Given the description of an element on the screen output the (x, y) to click on. 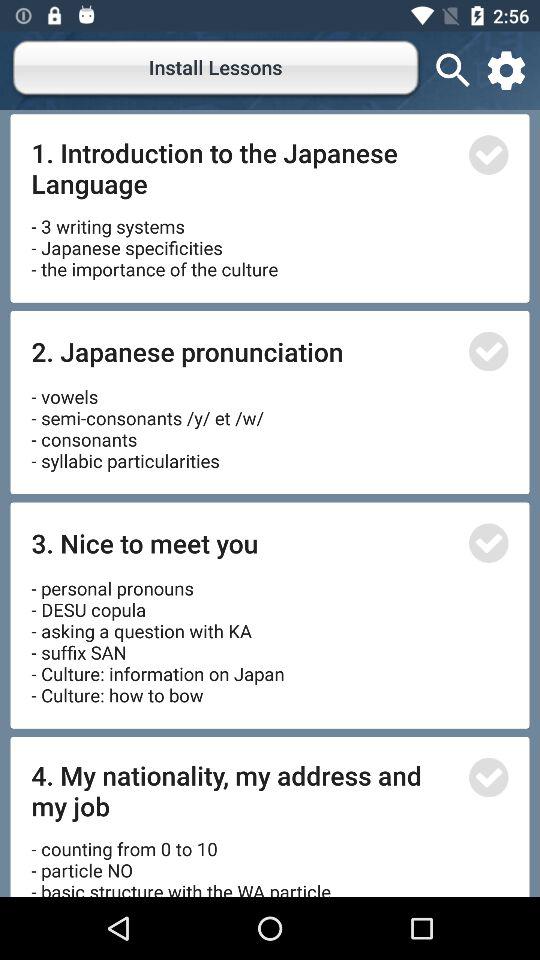
enhance button (488, 542)
